Given the description of an element on the screen output the (x, y) to click on. 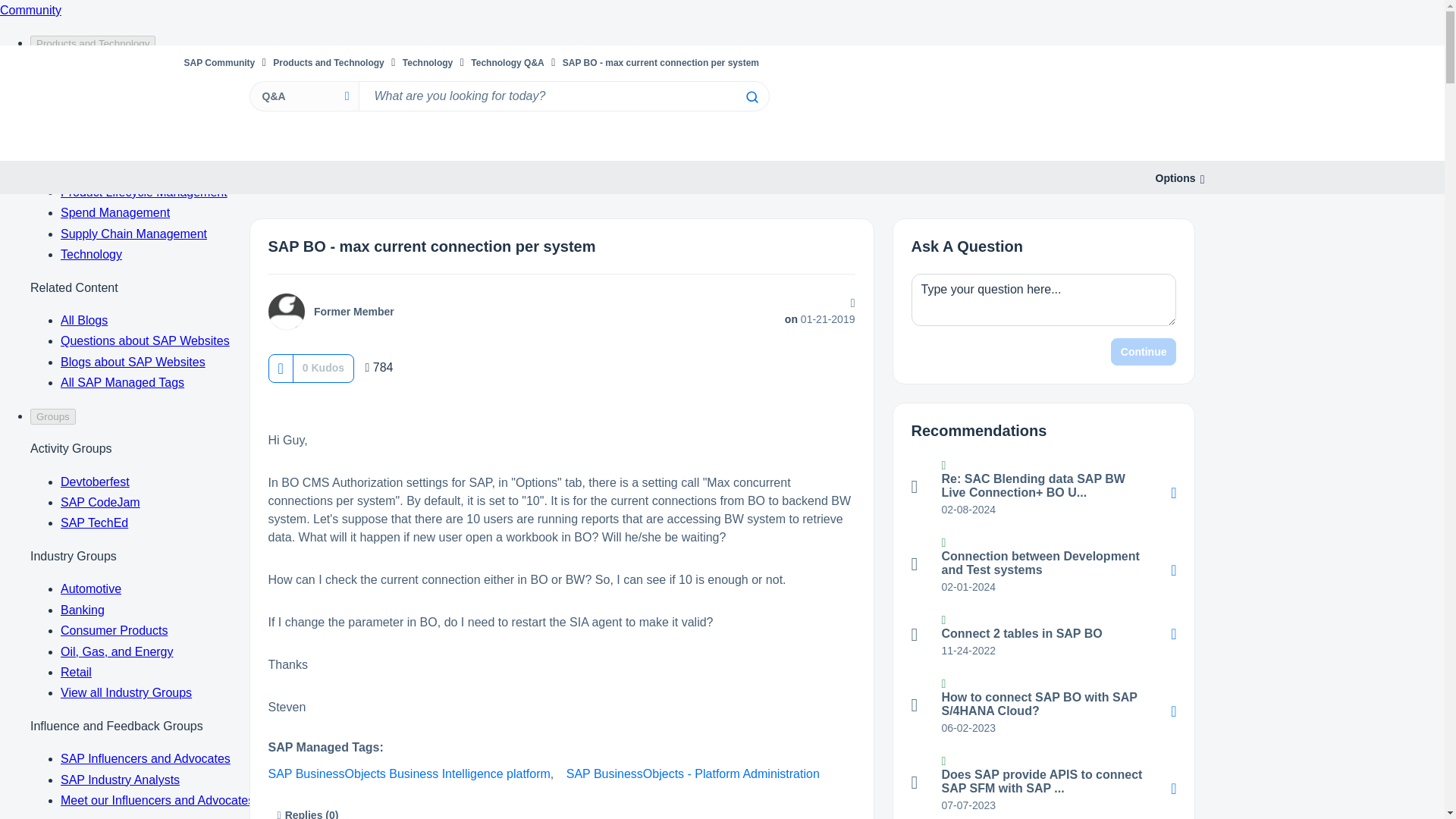
Search (750, 96)
Search (750, 96)
Options (1176, 178)
Search (563, 96)
Continue (1143, 351)
Show option menu (1176, 178)
SAP BusinessObjects - Platform Administration (692, 773)
Products and Technology (328, 62)
Technology (427, 62)
Click here to give kudos to this post. (279, 367)
SAP Community (218, 62)
SAP BusinessObjects Business Intelligence platform (408, 773)
Search Granularity (303, 96)
The total number of kudos this post has received. (323, 367)
Search (750, 96)
